Given the description of an element on the screen output the (x, y) to click on. 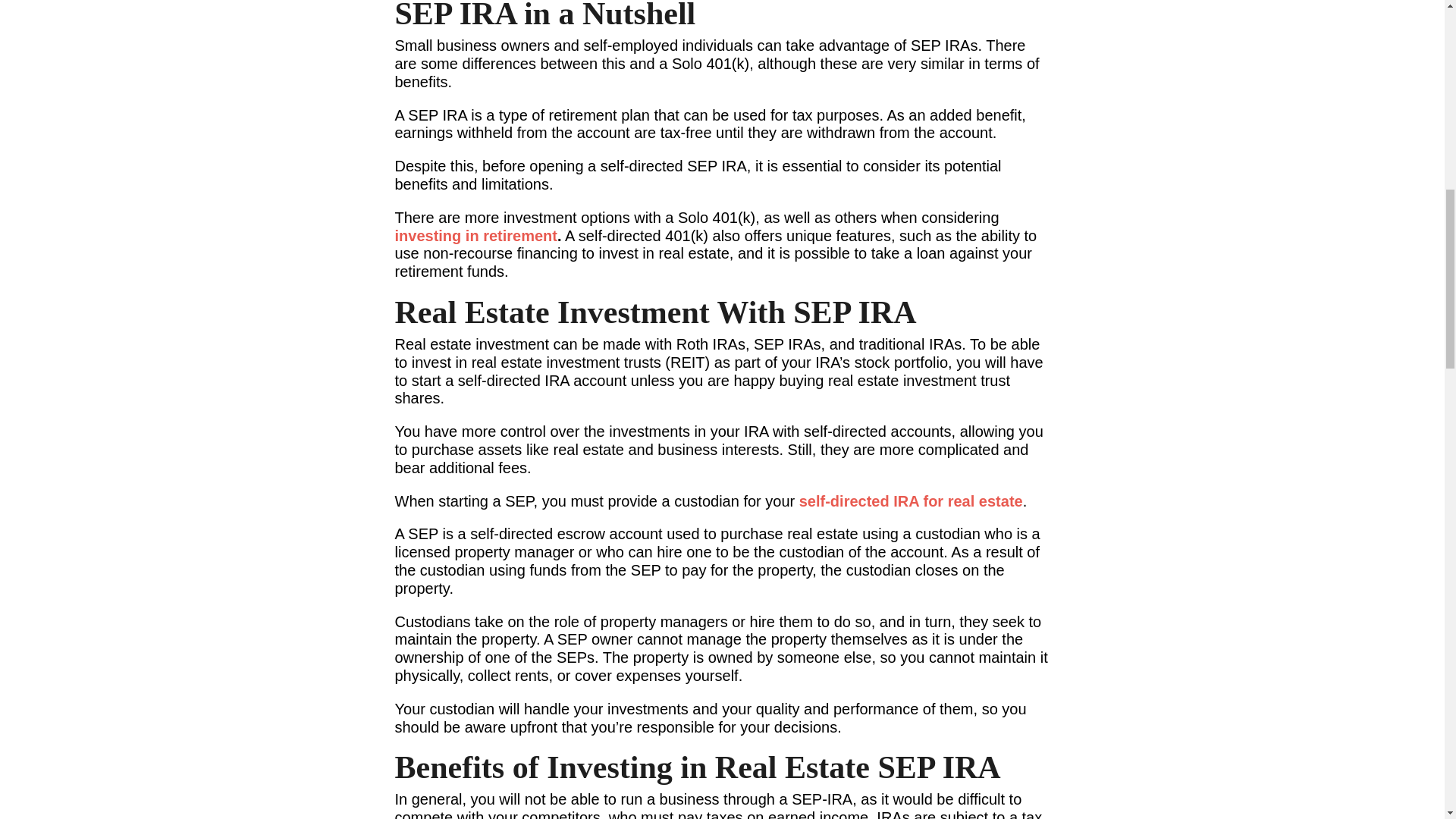
investing in retirement (475, 235)
self-directed IRA for real estate (911, 501)
